Given the description of an element on the screen output the (x, y) to click on. 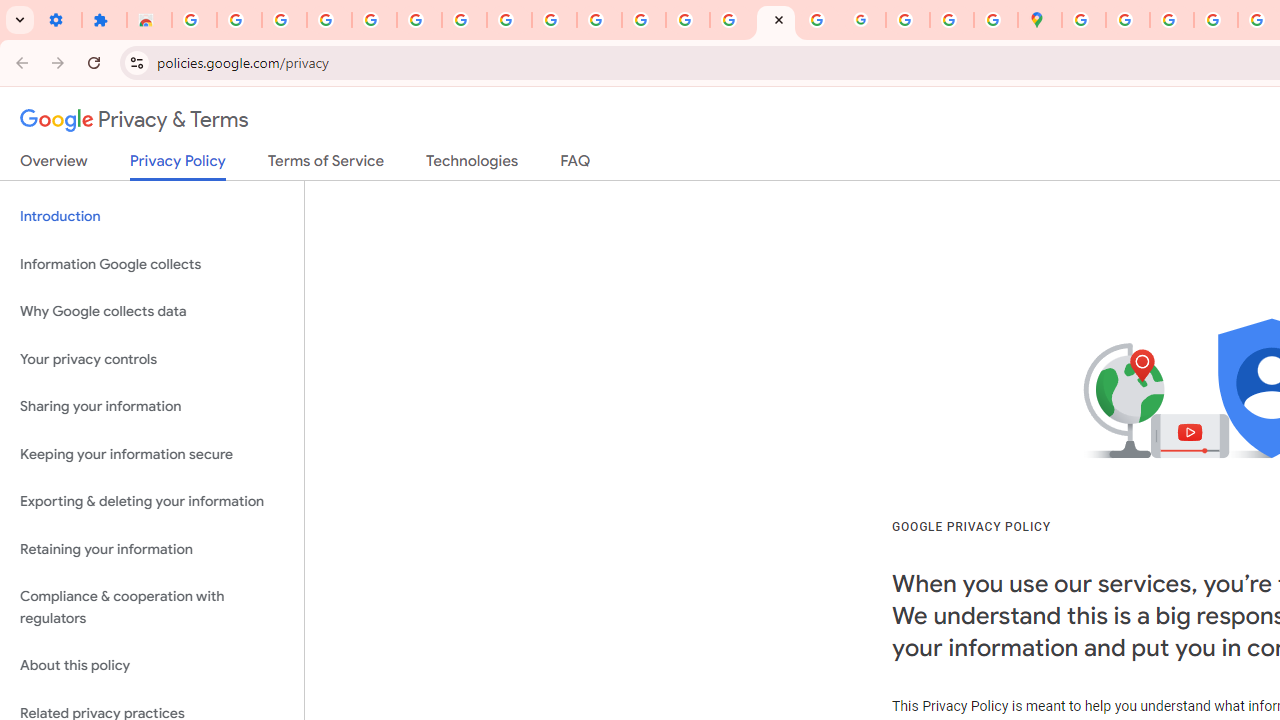
Retaining your information (152, 548)
FAQ (575, 165)
Privacy & Terms (134, 120)
Sign in - Google Accounts (374, 20)
Privacy Policy (177, 166)
https://scholar.google.com/ (599, 20)
Privacy Help Center - Policies Help (687, 20)
